Given the description of an element on the screen output the (x, y) to click on. 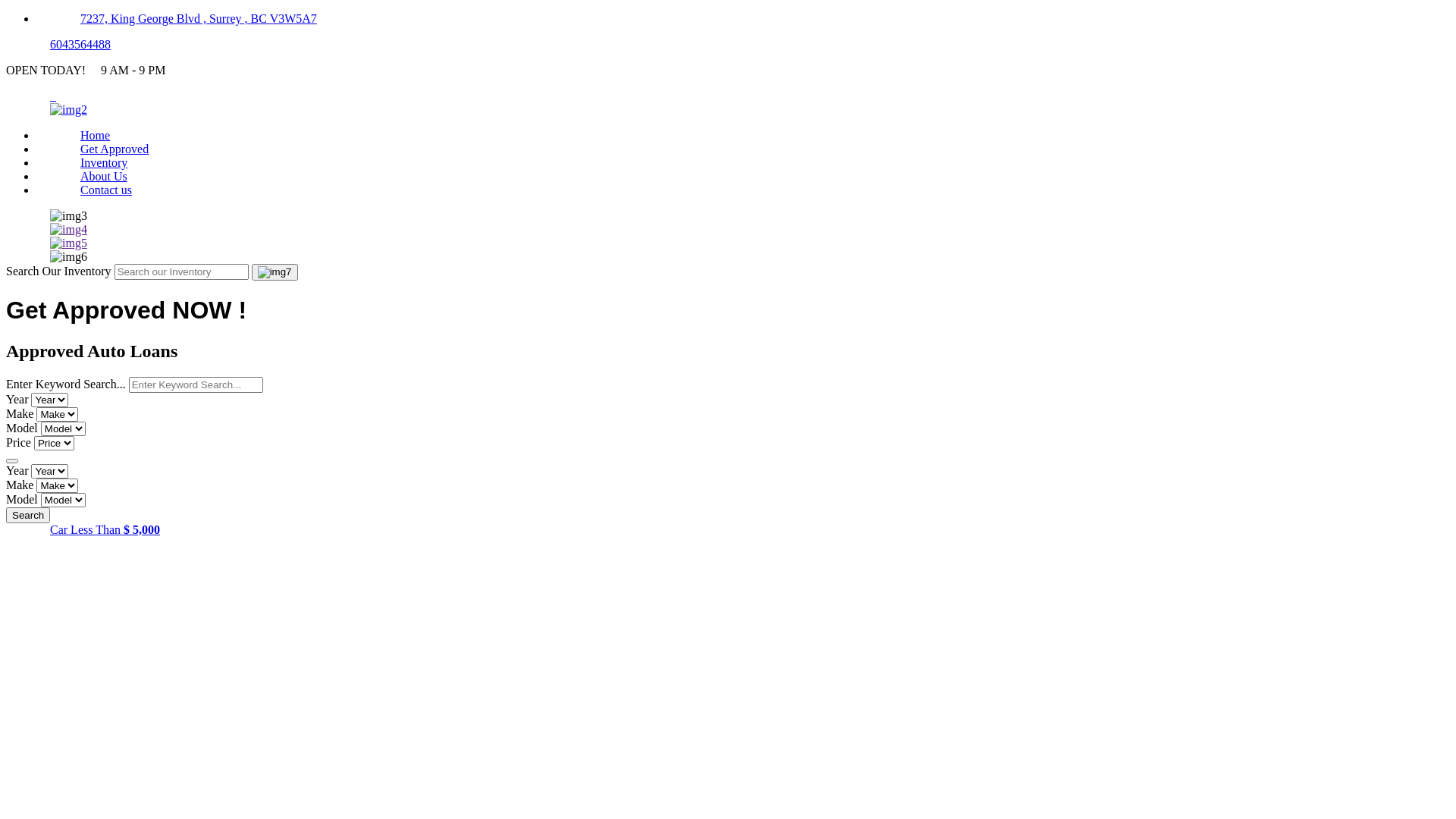
Car Less Than $ 5,000 Element type: text (104, 529)
Get Approved Element type: text (114, 148)
Home Element type: text (94, 135)
_ Element type: text (53, 95)
6043564488 Element type: text (80, 44)
Inventory Element type: text (103, 162)
Search Element type: text (28, 515)
About Us Element type: text (103, 175)
Home Element type: hover (68, 109)
Contact us Element type: text (105, 189)
